Given the description of an element on the screen output the (x, y) to click on. 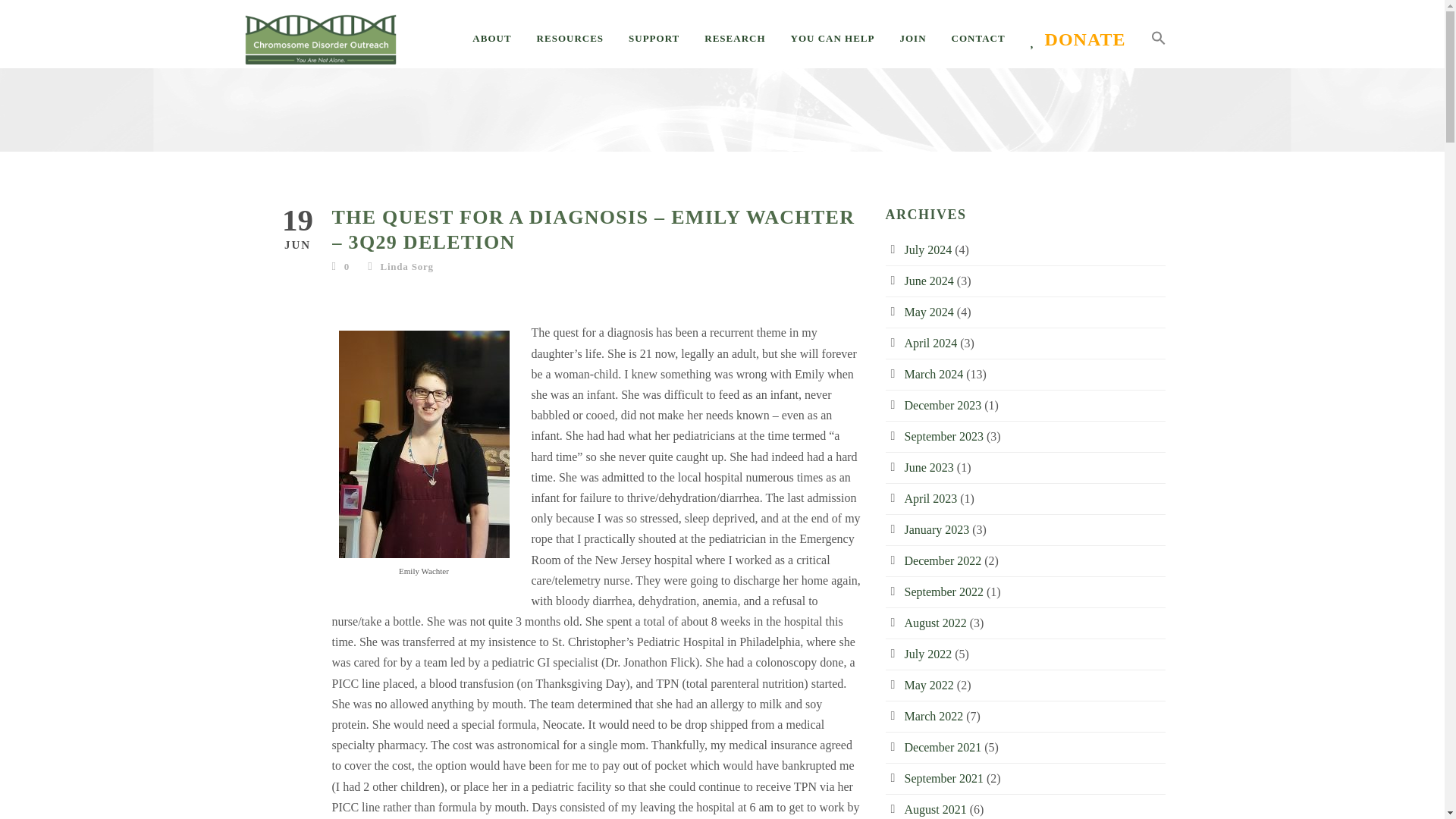
Posts by Linda Sorg (406, 266)
